Given the description of an element on the screen output the (x, y) to click on. 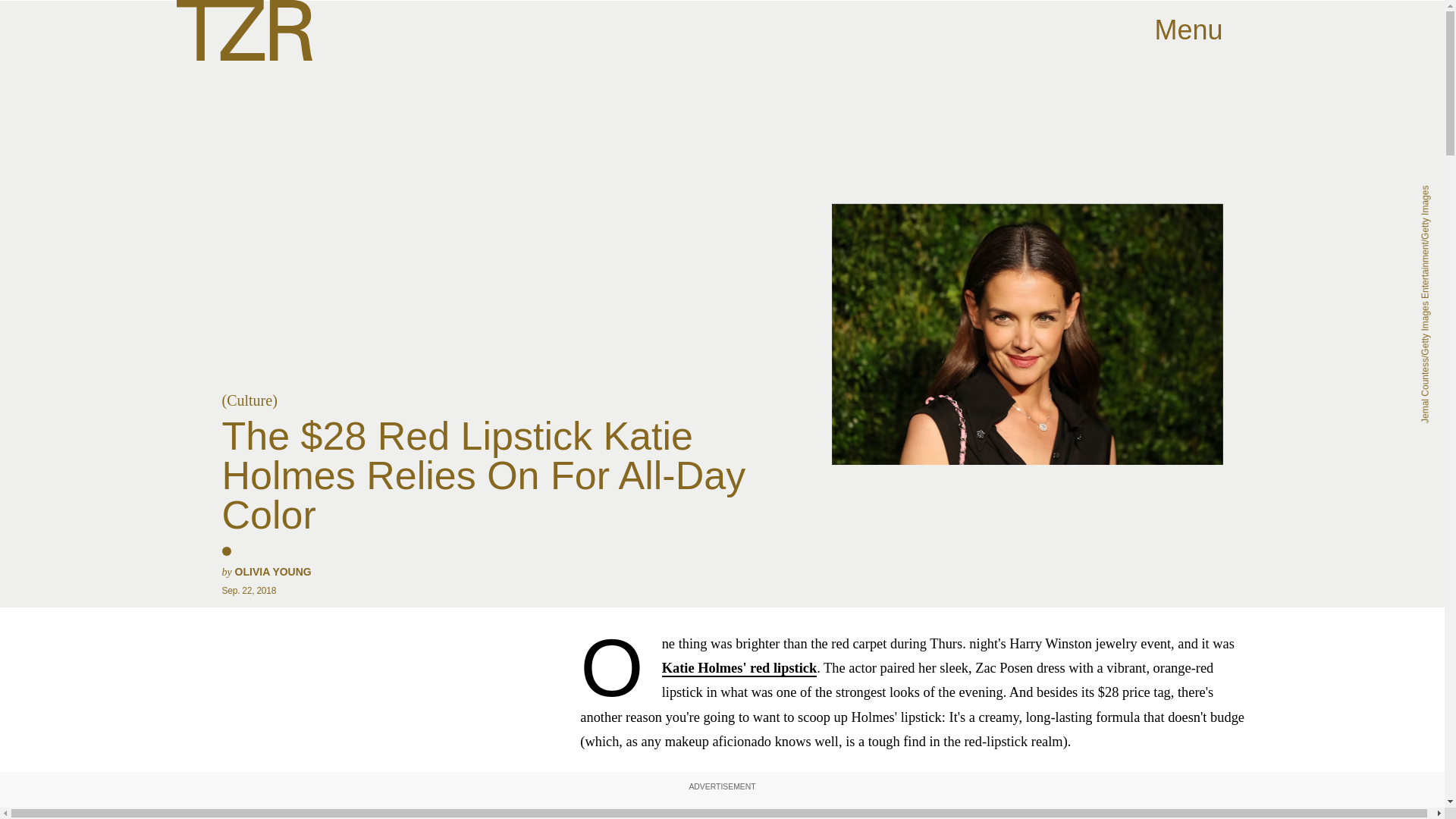
The Zoe Report (243, 30)
OLIVIA YOUNG (272, 571)
Katie Holmes' red lipstick (739, 668)
